Given the description of an element on the screen output the (x, y) to click on. 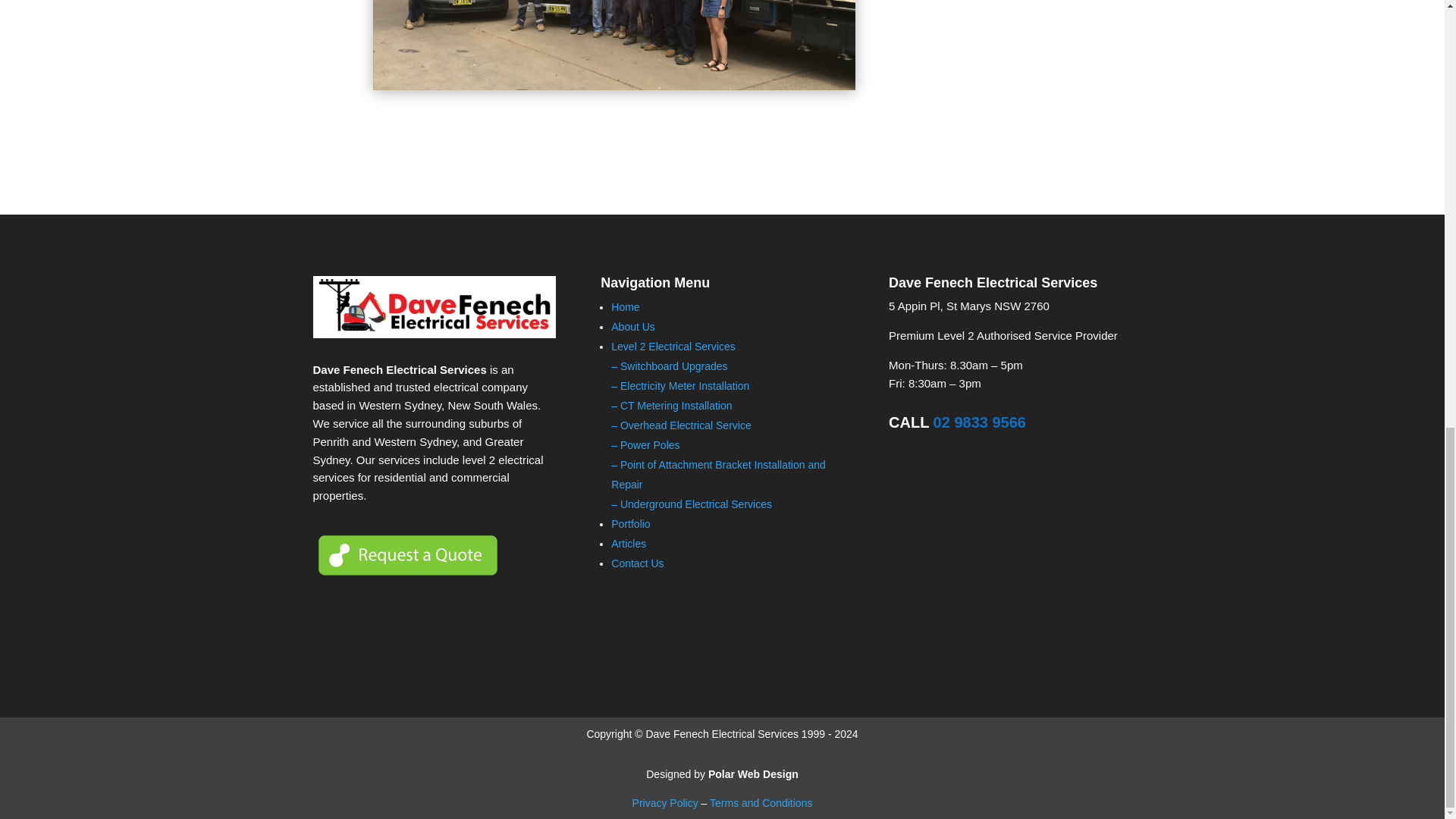
Level 2 Electrician Sydney Header (614, 44)
About Us (633, 326)
Contact Us (637, 563)
Level 2 Electrical Services (673, 346)
Articles (628, 543)
Portfolio (630, 523)
Home (625, 306)
